Given the description of an element on the screen output the (x, y) to click on. 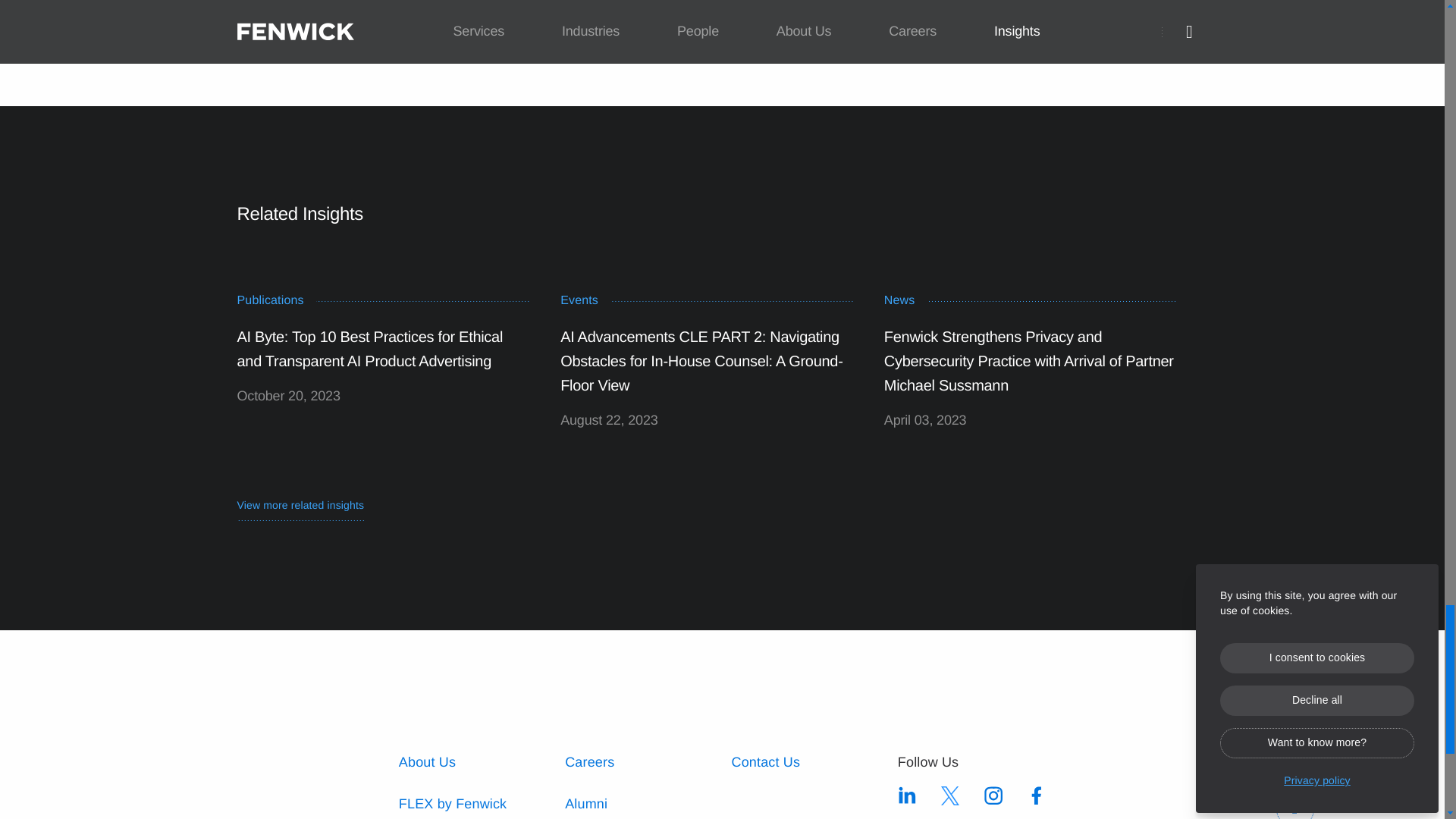
About Us (426, 761)
Contact Us (764, 761)
Alumni (585, 803)
Careers (589, 761)
FLEX by Fenwick (452, 803)
